Given the description of an element on the screen output the (x, y) to click on. 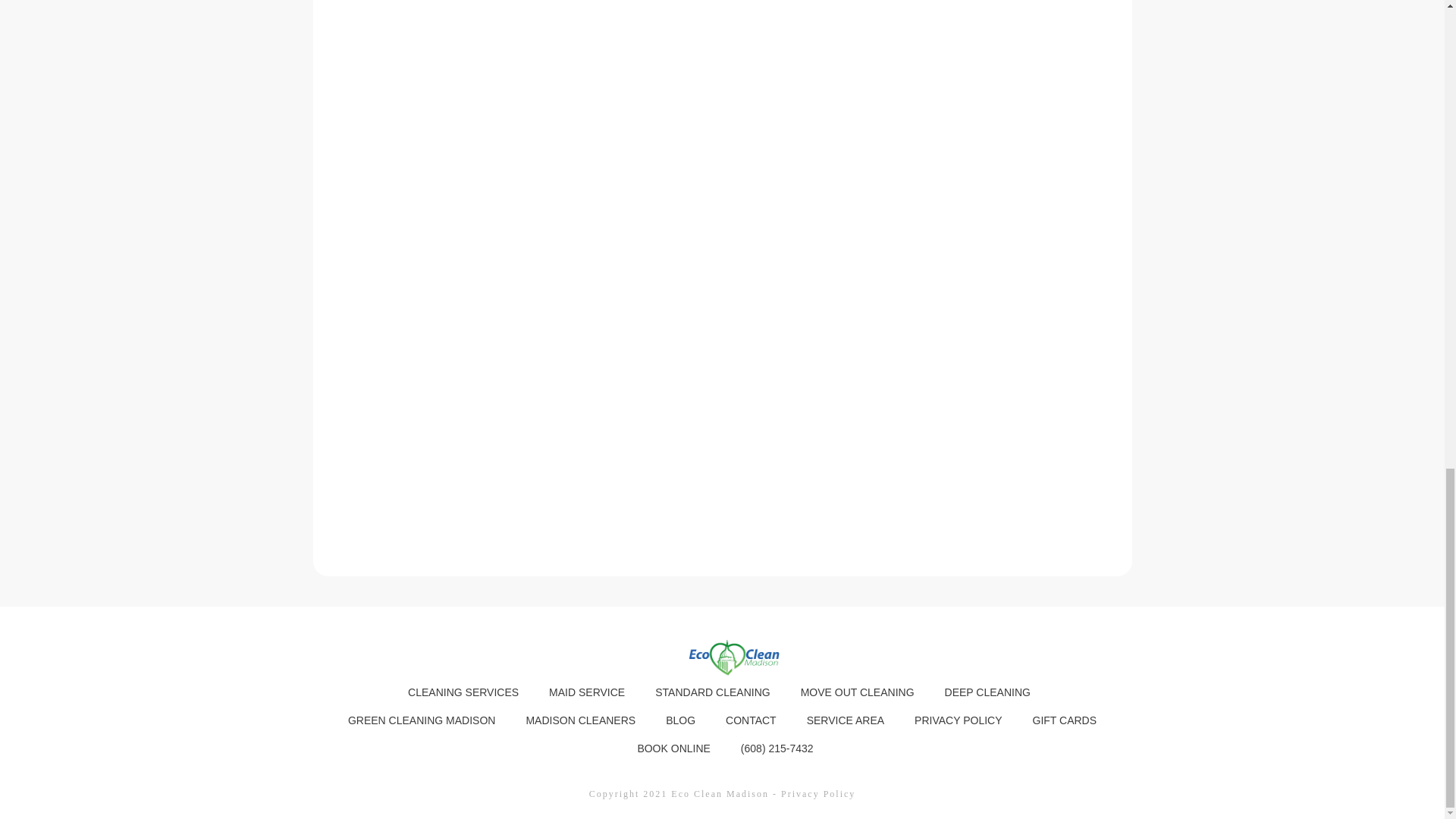
CLEANING SERVICES (462, 692)
BOOK ONLINE (673, 748)
PRIVACY POLICY (957, 720)
Privacy Policy (818, 793)
MOVE OUT CLEANING (857, 692)
MADISON CLEANERS (579, 720)
GREEN CLEANING MADISON (421, 720)
STANDARD CLEANING (712, 692)
DEEP CLEANING (987, 692)
BLOG (680, 720)
